Given the description of an element on the screen output the (x, y) to click on. 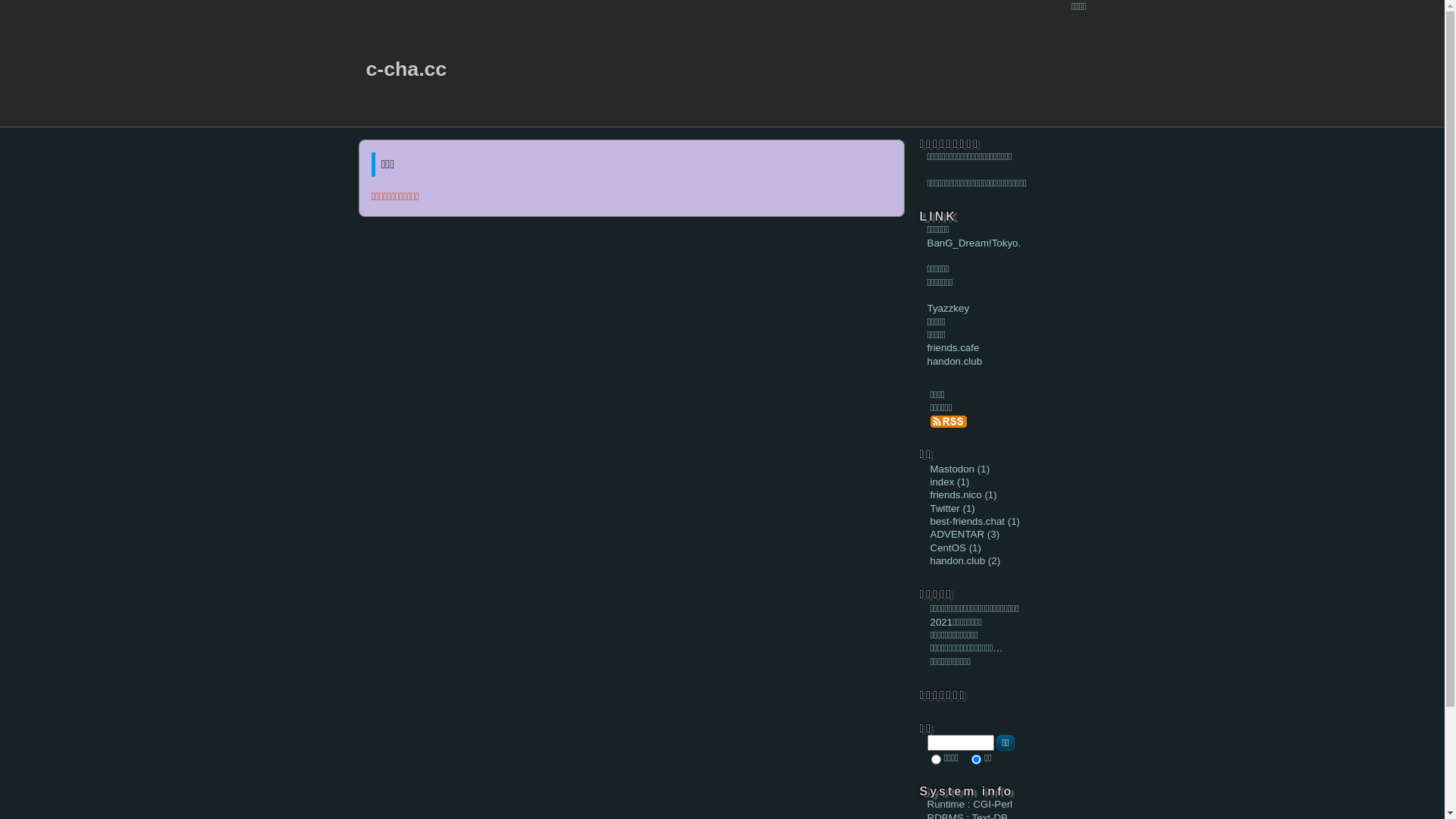
Twitter Element type: text (944, 508)
ADVENTAR Element type: text (956, 533)
handon.club Element type: text (954, 361)
CentOS Element type: text (947, 547)
handon.club Element type: text (957, 560)
Tyazzkey Element type: text (947, 307)
best-friends.chat Element type: text (966, 521)
BanG_Dream!Tokyo. Element type: text (973, 242)
friends.cafe Element type: text (952, 347)
Mastodon Element type: text (951, 468)
c-cha.cc Element type: text (405, 68)
friends.nico Element type: text (955, 494)
index Element type: text (941, 481)
